Given the description of an element on the screen output the (x, y) to click on. 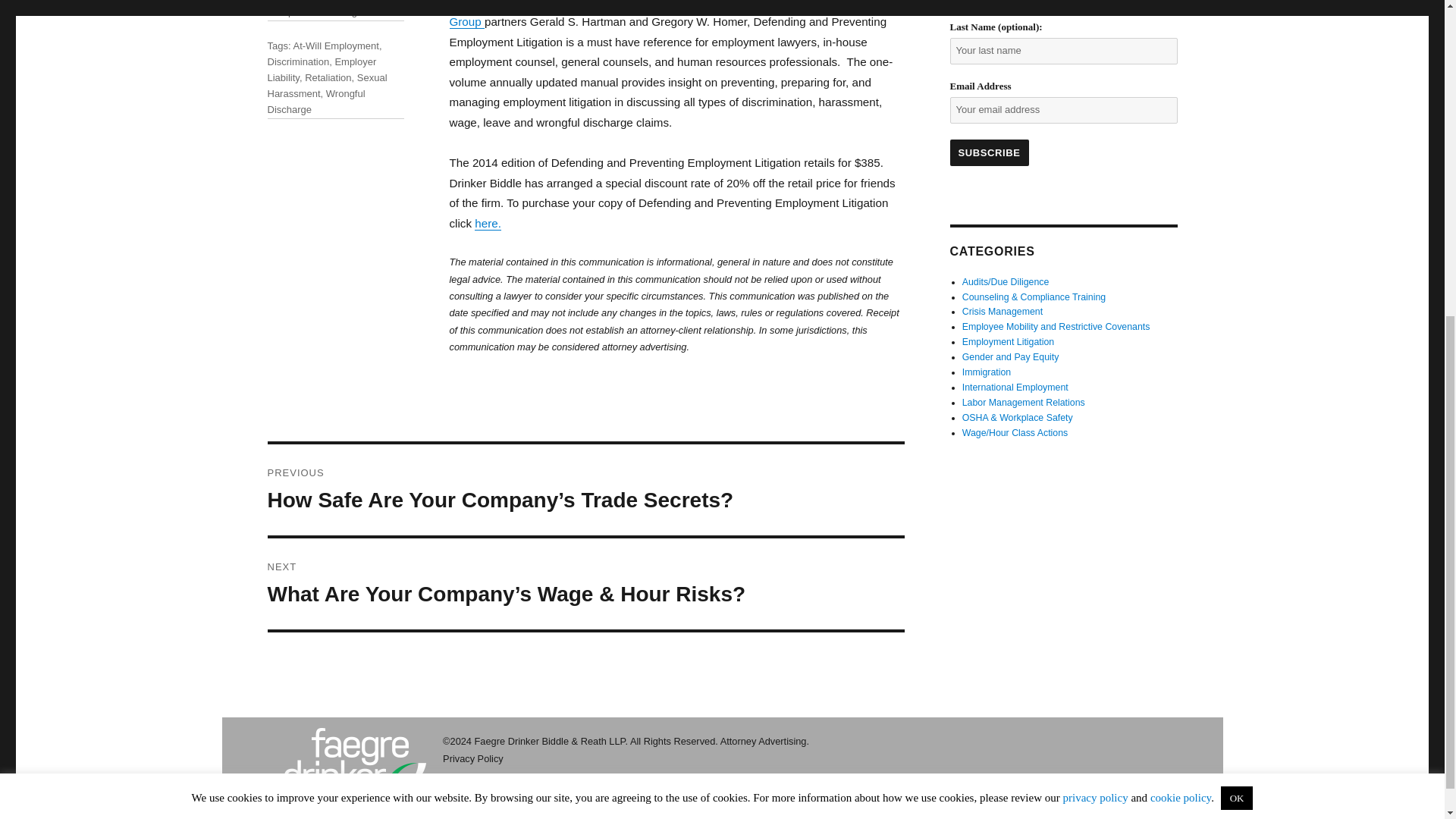
Labor Management Relations (1023, 402)
Employer Liability (320, 69)
At-Will Employment (335, 45)
Sexual Harassment (326, 85)
International Employment (1015, 387)
Subscribe (988, 152)
here. (487, 223)
Immigration (986, 371)
Gender and Pay Equity (1010, 357)
Crisis Management (1002, 311)
Employment Litigation (1008, 341)
Retaliation (327, 77)
Discrimination (297, 61)
cookie policy (1180, 267)
Privacy Policy (472, 758)
